Given the description of an element on the screen output the (x, y) to click on. 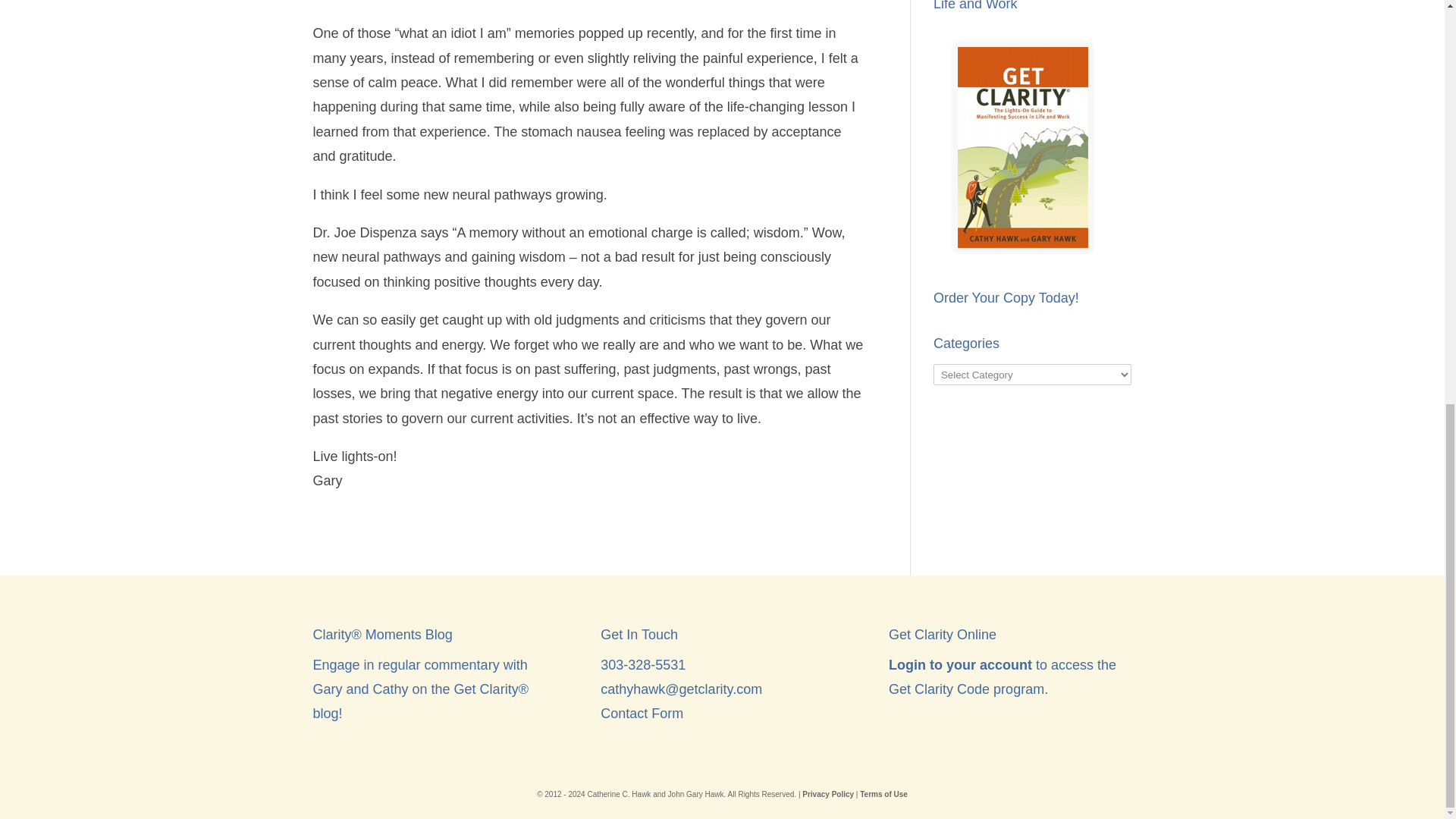
Contact Form (640, 713)
Terms of Use (883, 794)
Privacy Policy (827, 794)
